Given the description of an element on the screen output the (x, y) to click on. 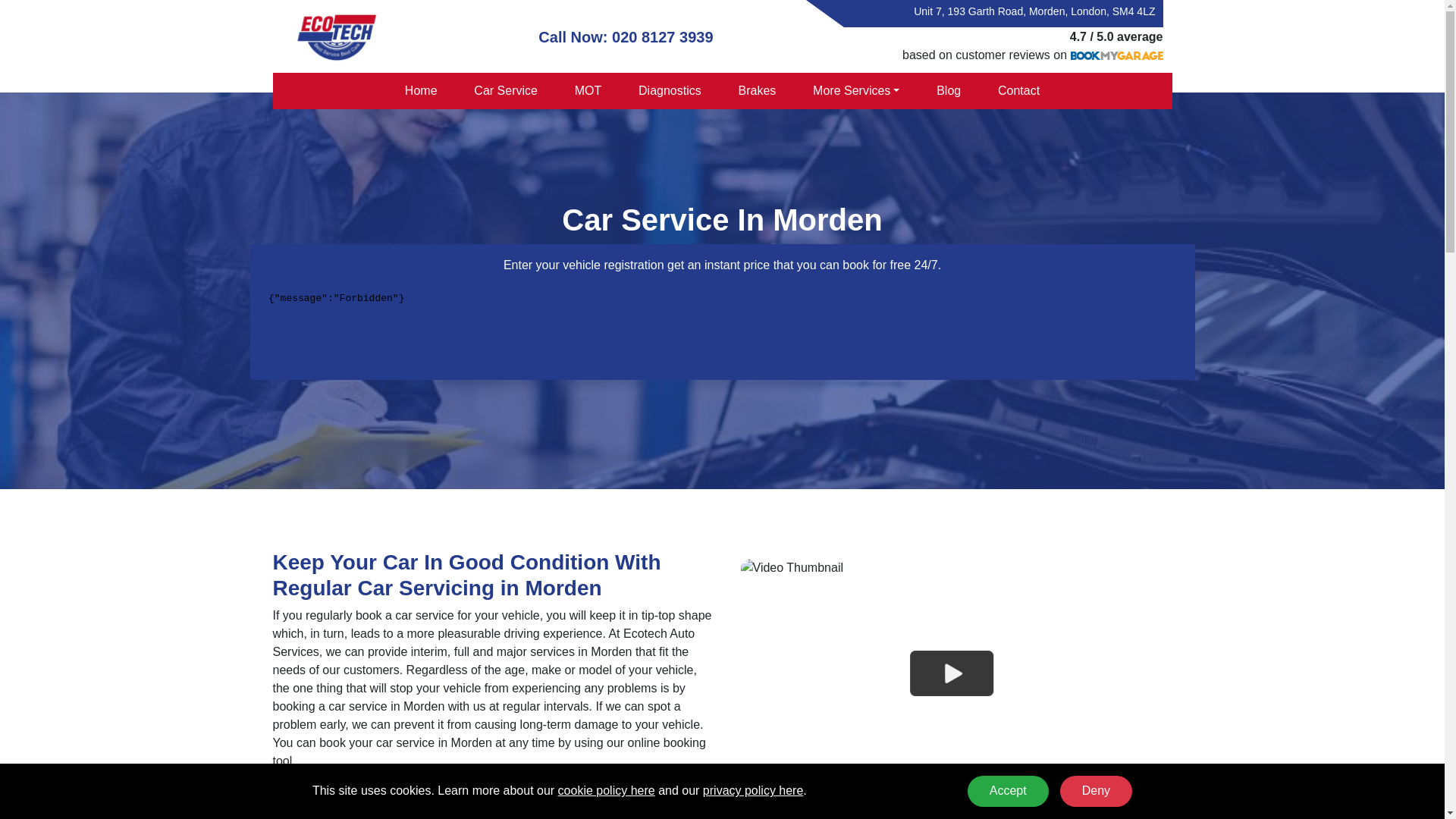
Brakes (756, 90)
Accept (1007, 790)
Booking Widget (722, 324)
privacy policy here (753, 789)
Contact (1018, 90)
Car Service (504, 90)
Learn more about our privacy policy (753, 789)
Home (419, 90)
Call Now: 020 8127 3939 (625, 36)
More Services (856, 90)
Diagnostics (669, 90)
MOT (587, 90)
Deny (1095, 790)
Learn more about our cookie policy (606, 789)
Blog (948, 90)
